Given the description of an element on the screen output the (x, y) to click on. 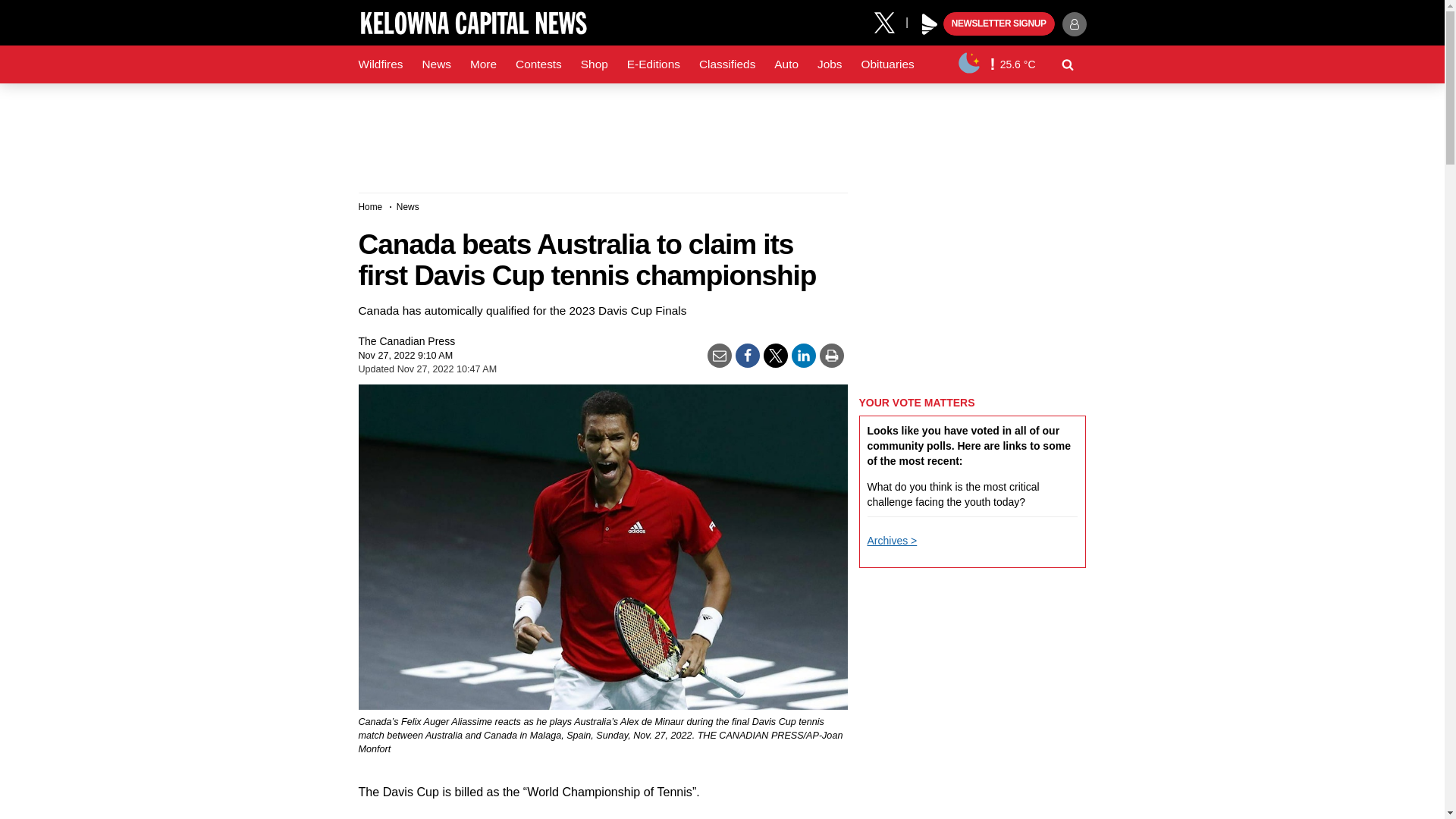
NEWSLETTER SIGNUP (998, 24)
Play (929, 24)
News (372, 64)
X (889, 21)
Black Press Media (929, 24)
